Given the description of an element on the screen output the (x, y) to click on. 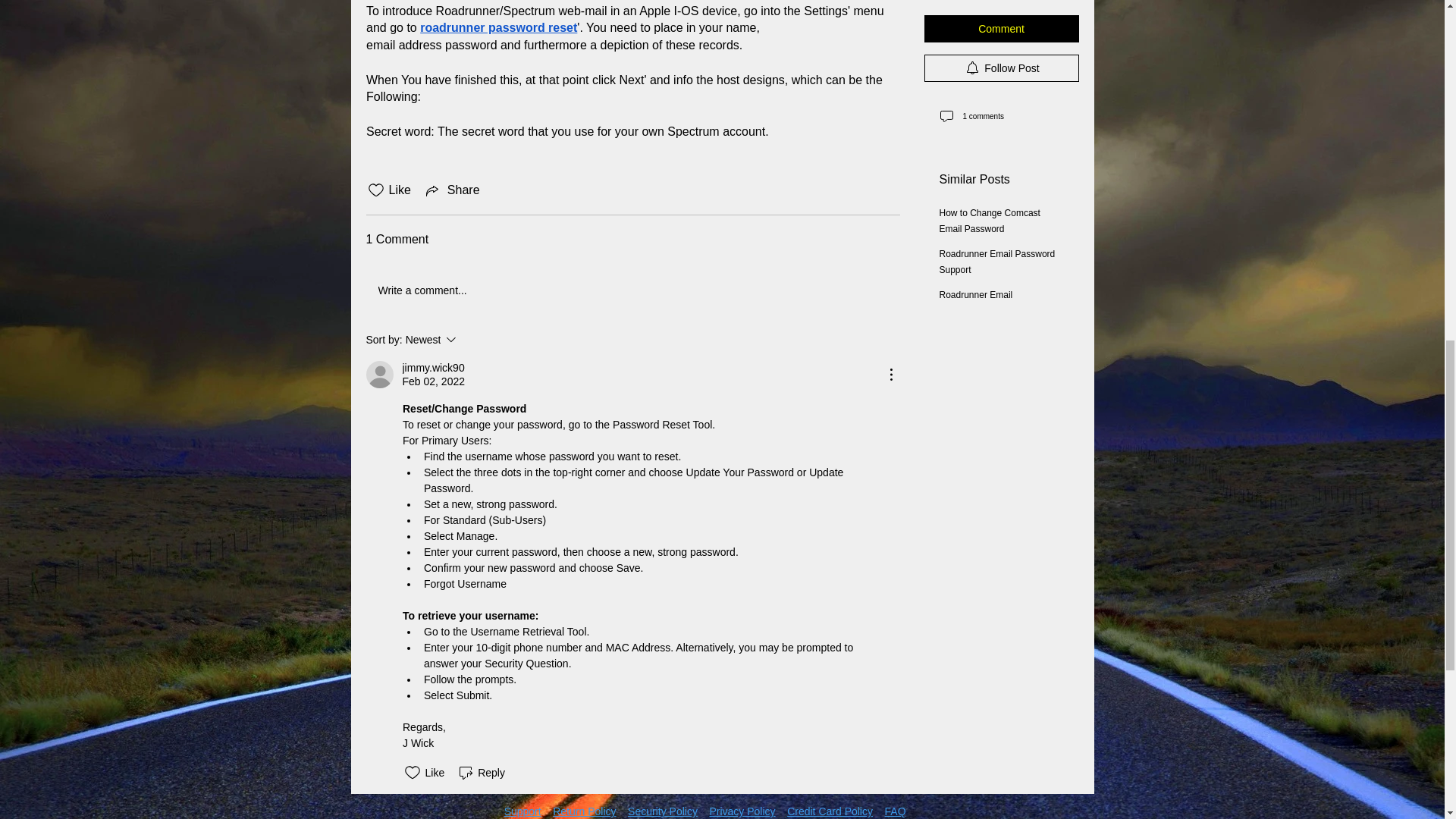
Write a comment... (632, 291)
roadrunner password reset (498, 27)
Share (451, 189)
jimmy.wick90 (432, 368)
Support (522, 811)
Reply (481, 772)
Roadrunner Email (975, 10)
